Given the description of an element on the screen output the (x, y) to click on. 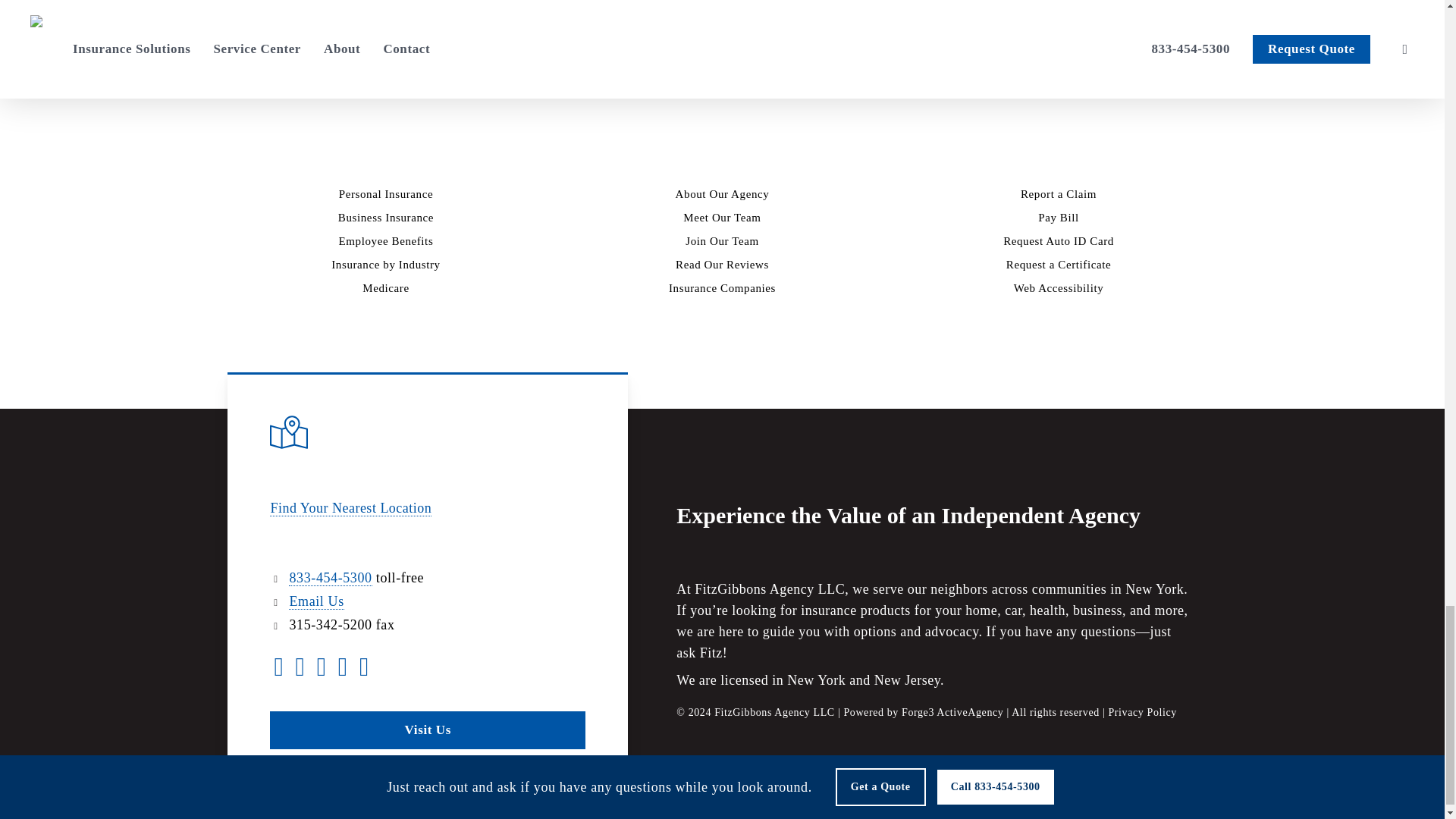
Visit page Personal Insurance (386, 193)
